Given the description of an element on the screen output the (x, y) to click on. 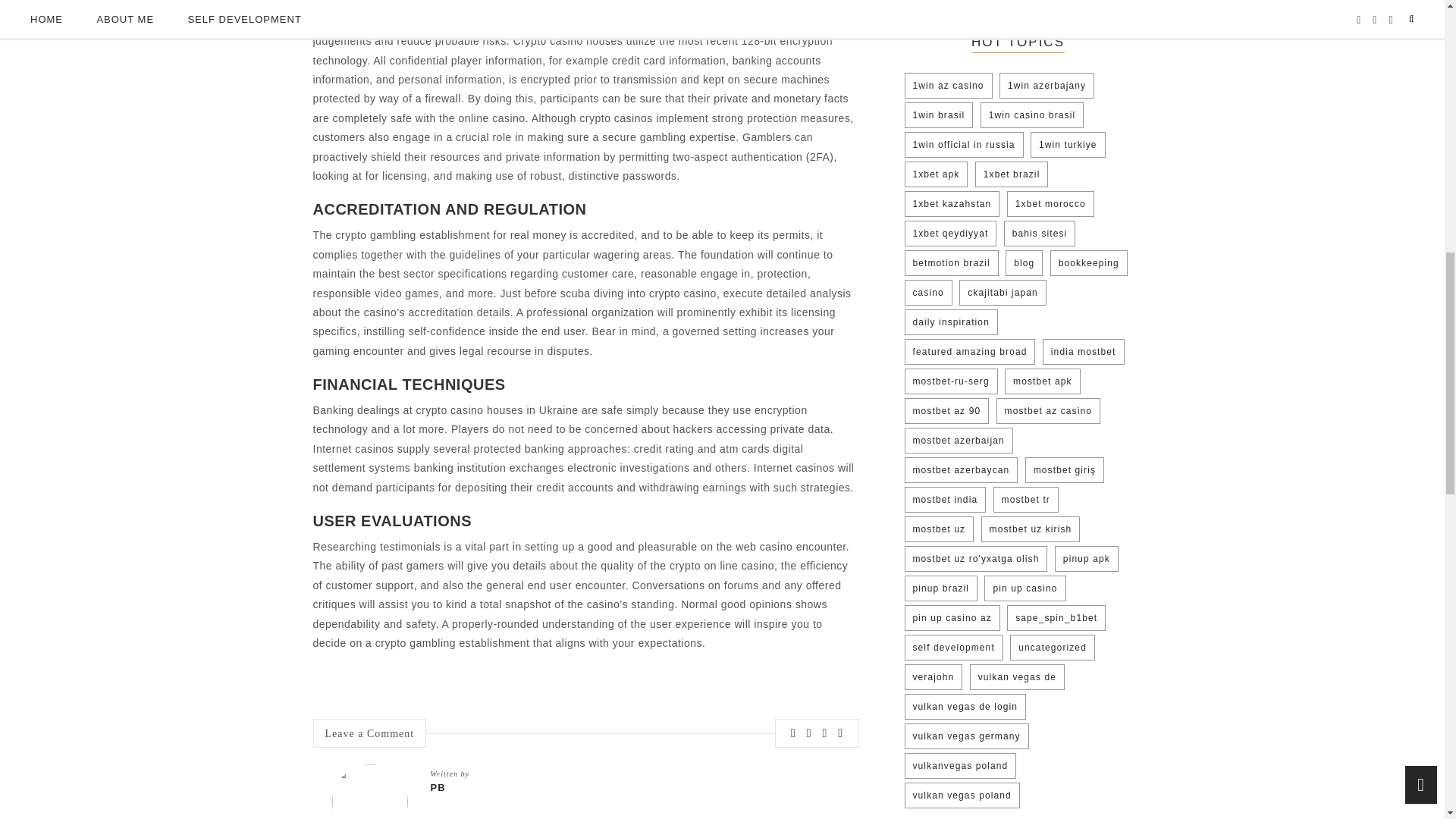
1win official in russia (963, 144)
1win turkiye (1067, 144)
1xbet apk (936, 174)
1xbet kazahstan (951, 203)
1win azerbajany (1046, 85)
Leave a Comment (368, 733)
1win brasil (938, 114)
1xbet brazil (1011, 174)
PB (635, 787)
Posts by PB (635, 787)
1win casino brasil (1031, 114)
1win az casino (947, 85)
